Given the description of an element on the screen output the (x, y) to click on. 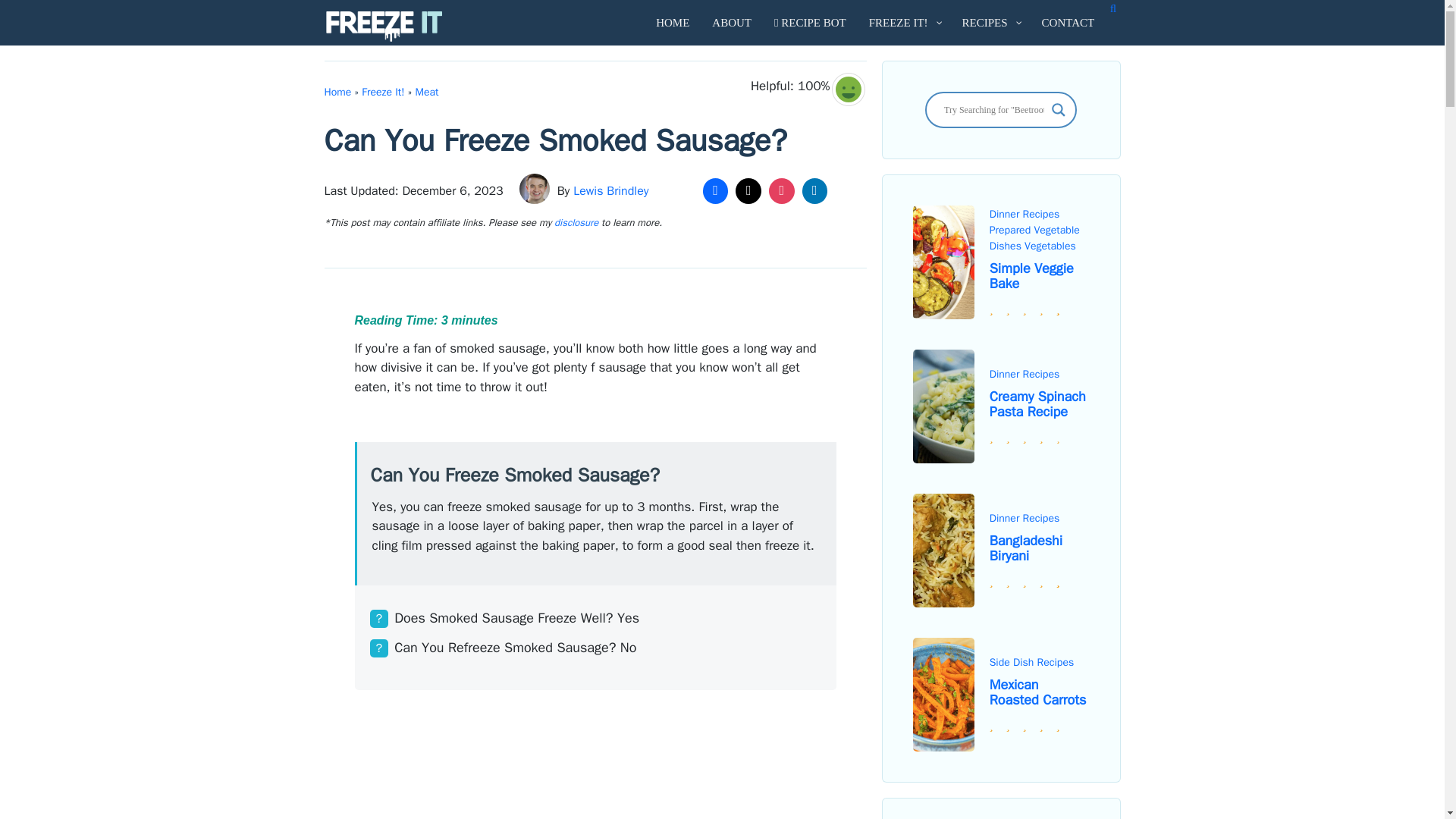
Meat (426, 91)
Linkedin (814, 191)
Freeze It! (382, 91)
Instagram (781, 191)
HOME (672, 22)
ABOUT (731, 22)
Freeze It (386, 26)
CONTACT (1068, 22)
X (748, 191)
Freeze It (383, 26)
